Given the description of an element on the screen output the (x, y) to click on. 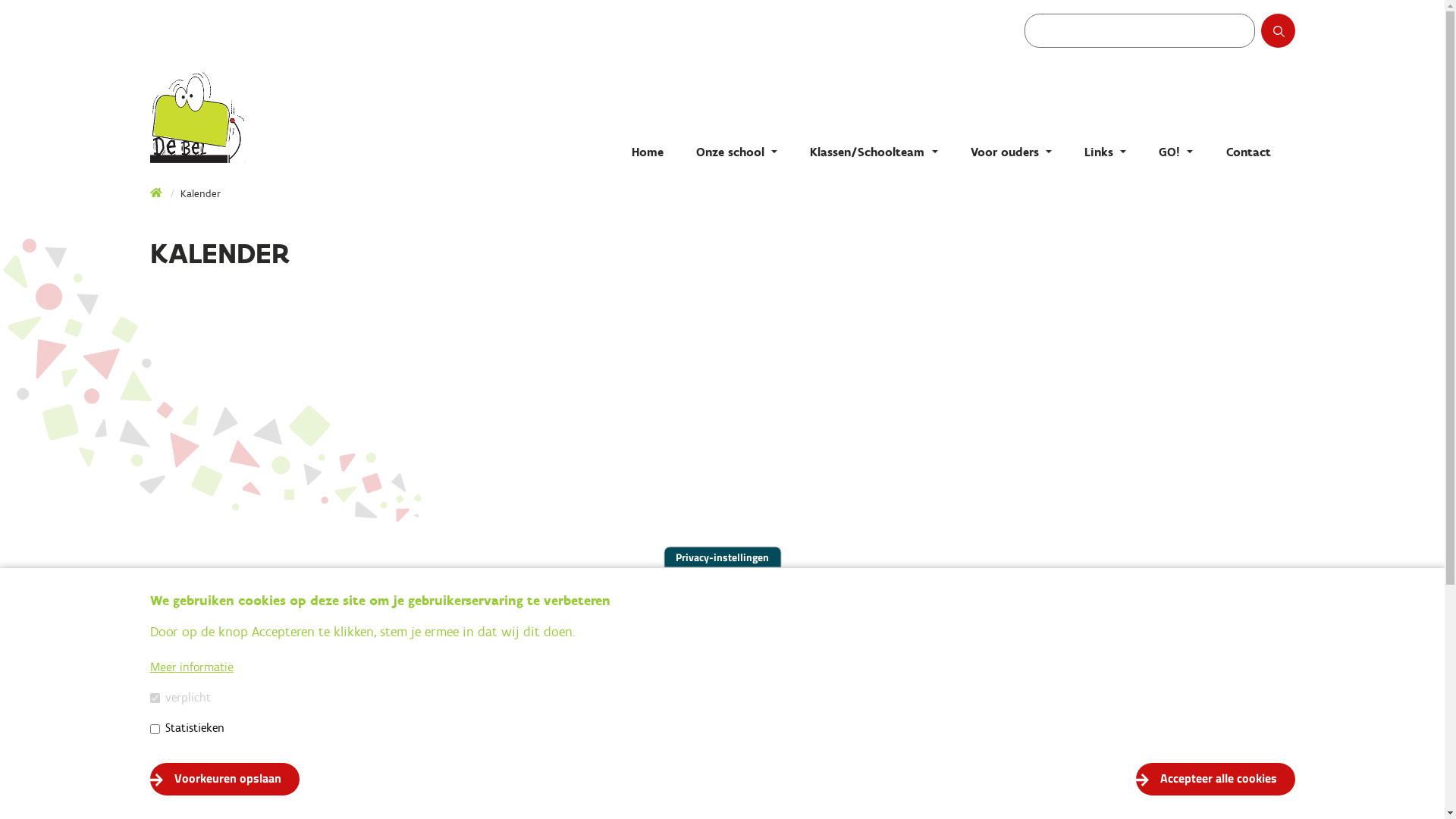
Home Element type: text (647, 151)
Klassen/Schoolteam Element type: text (873, 151)
GO! Element type: text (1175, 151)
Accepteer alle cookies Element type: text (1215, 778)
Links Element type: text (1105, 151)
Voorkeuren opslaan Element type: text (224, 778)
Home Element type: text (156, 193)
Contact Element type: text (1247, 151)
Meer informatie Element type: text (191, 666)
Zoeken Element type: text (1291, 35)
Privacy-instellingen Element type: text (722, 556)
Onze school Element type: text (736, 151)
Voor ouders Element type: text (1010, 151)
Toestemming intrekken Element type: text (1314, 770)
Naar de inhoud Element type: text (0, 0)
Ga naar de homepage Element type: hover (301, 117)
